Given the description of an element on the screen output the (x, y) to click on. 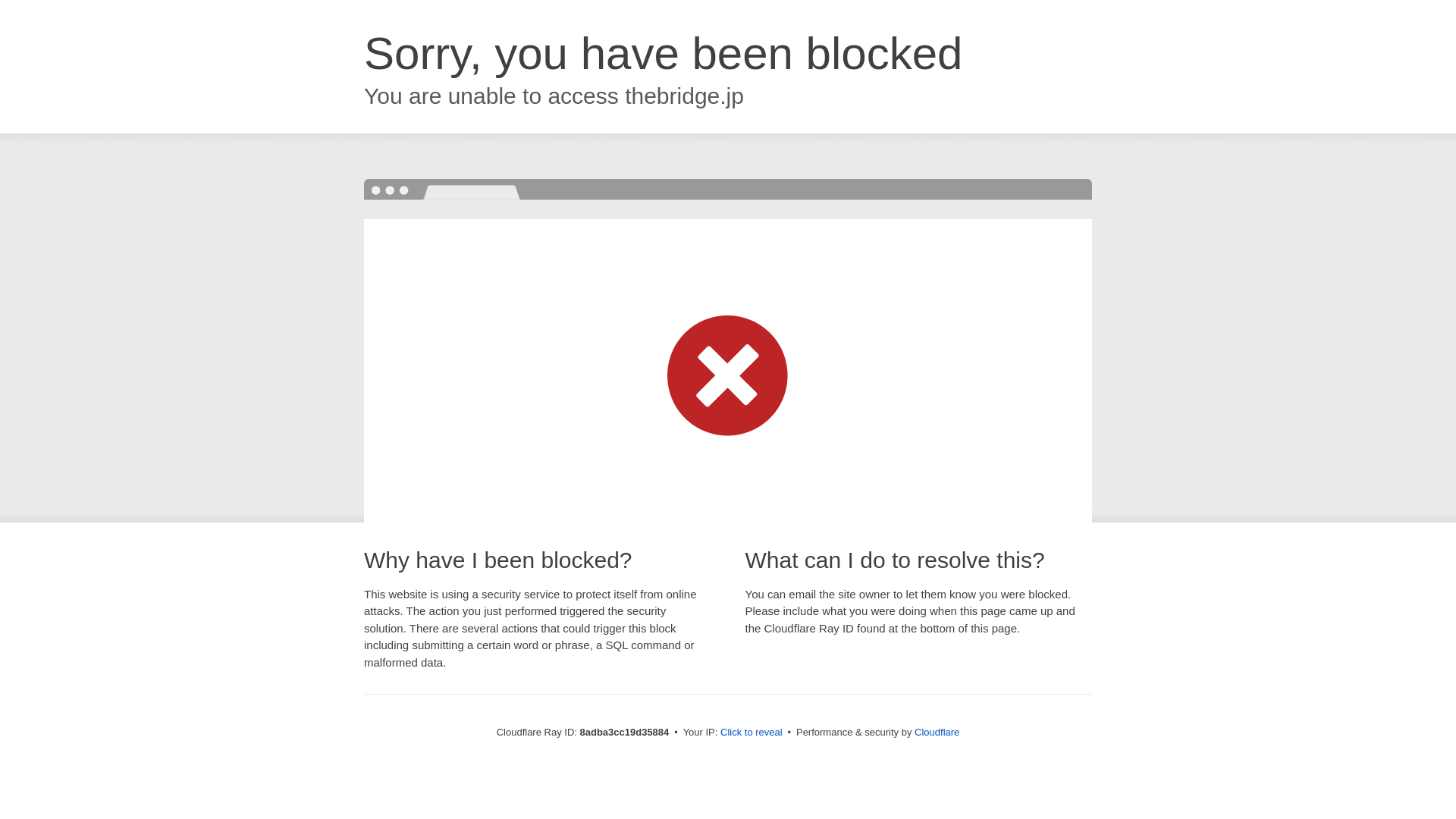
Click to reveal (751, 732)
Cloudflare (936, 731)
